Given the description of an element on the screen output the (x, y) to click on. 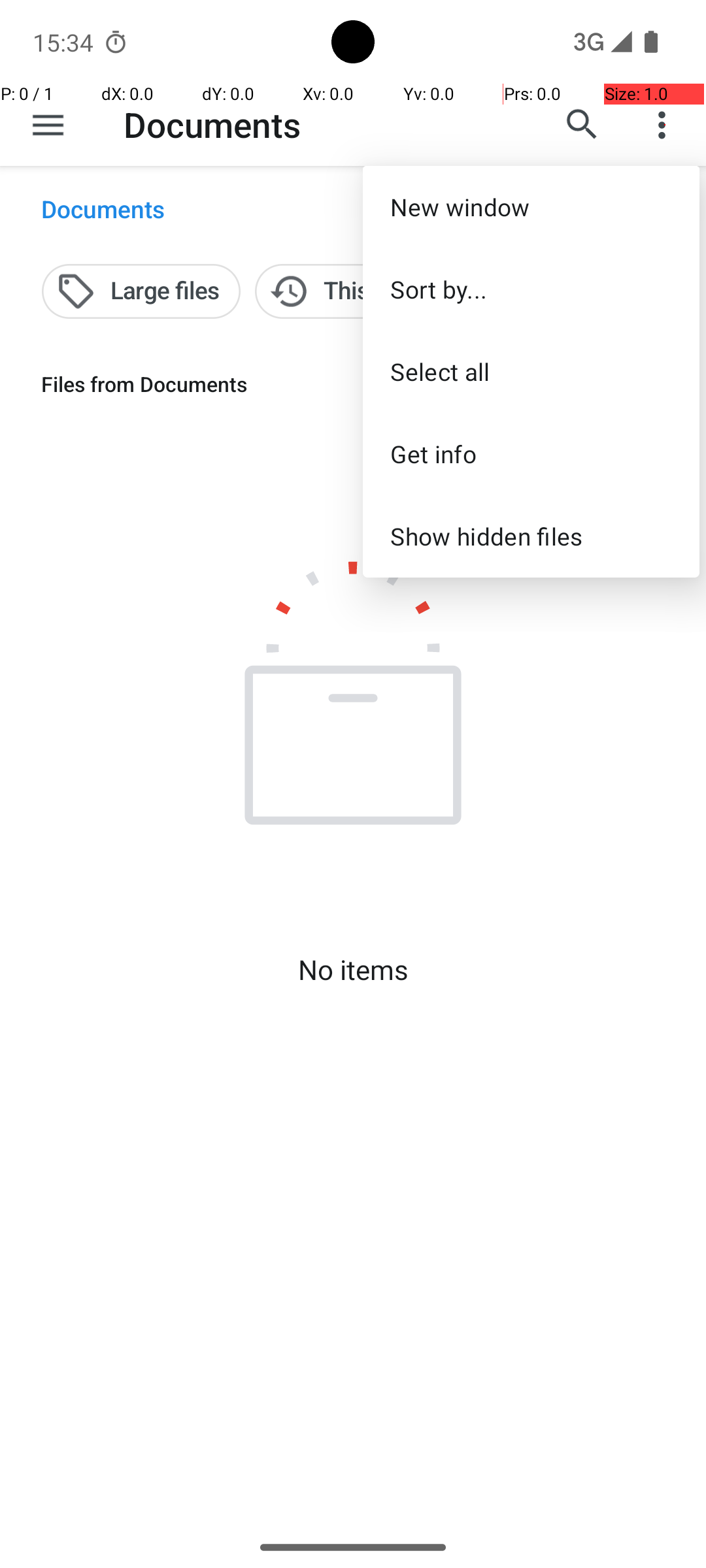
Get info Element type: android.widget.TextView (531, 453)
